Given the description of an element on the screen output the (x, y) to click on. 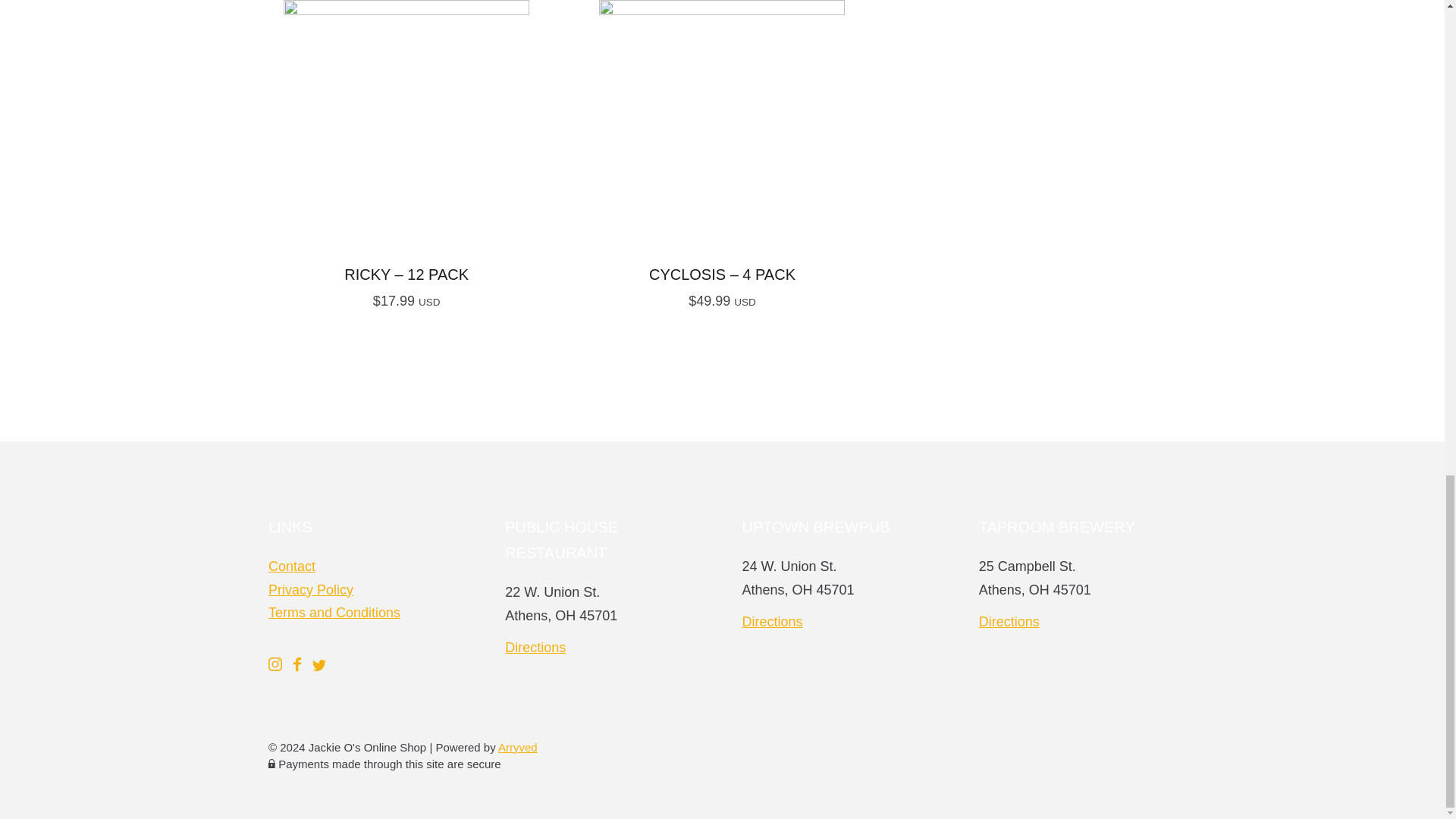
Privacy Policy (310, 589)
Jackie O's Brewery on Twitter (319, 666)
Jackie O's Brewery on Instagram (276, 666)
Directions (771, 621)
Terms and Conditions (333, 612)
Directions (535, 647)
Contact (291, 566)
